Given the description of an element on the screen output the (x, y) to click on. 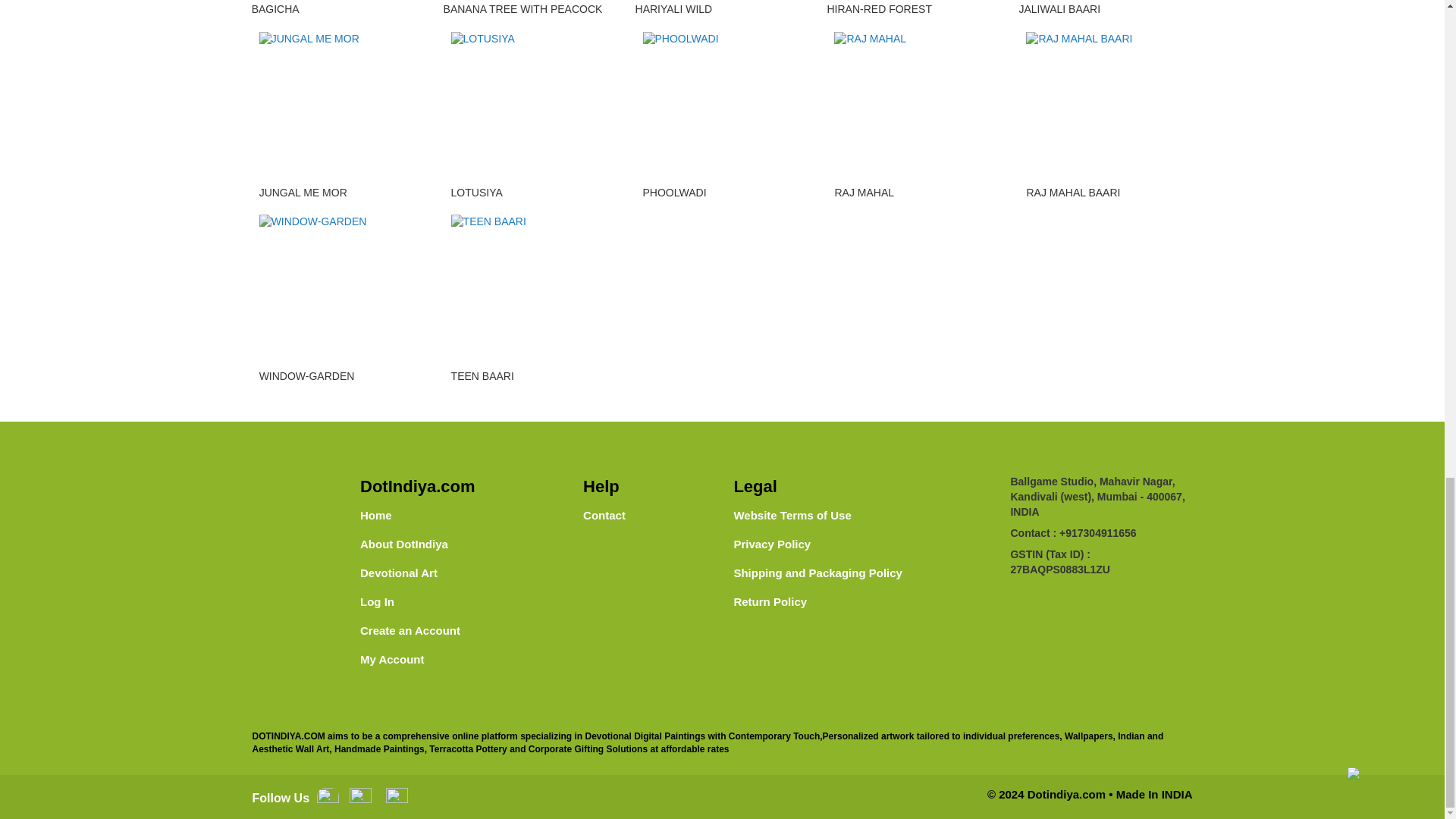
HARIYALI WILD  (673, 9)
BANANA TREE WITH PEACOCK (523, 9)
HIRAN-RED FOREST (879, 9)
BAGICHA (275, 9)
